Given the description of an element on the screen output the (x, y) to click on. 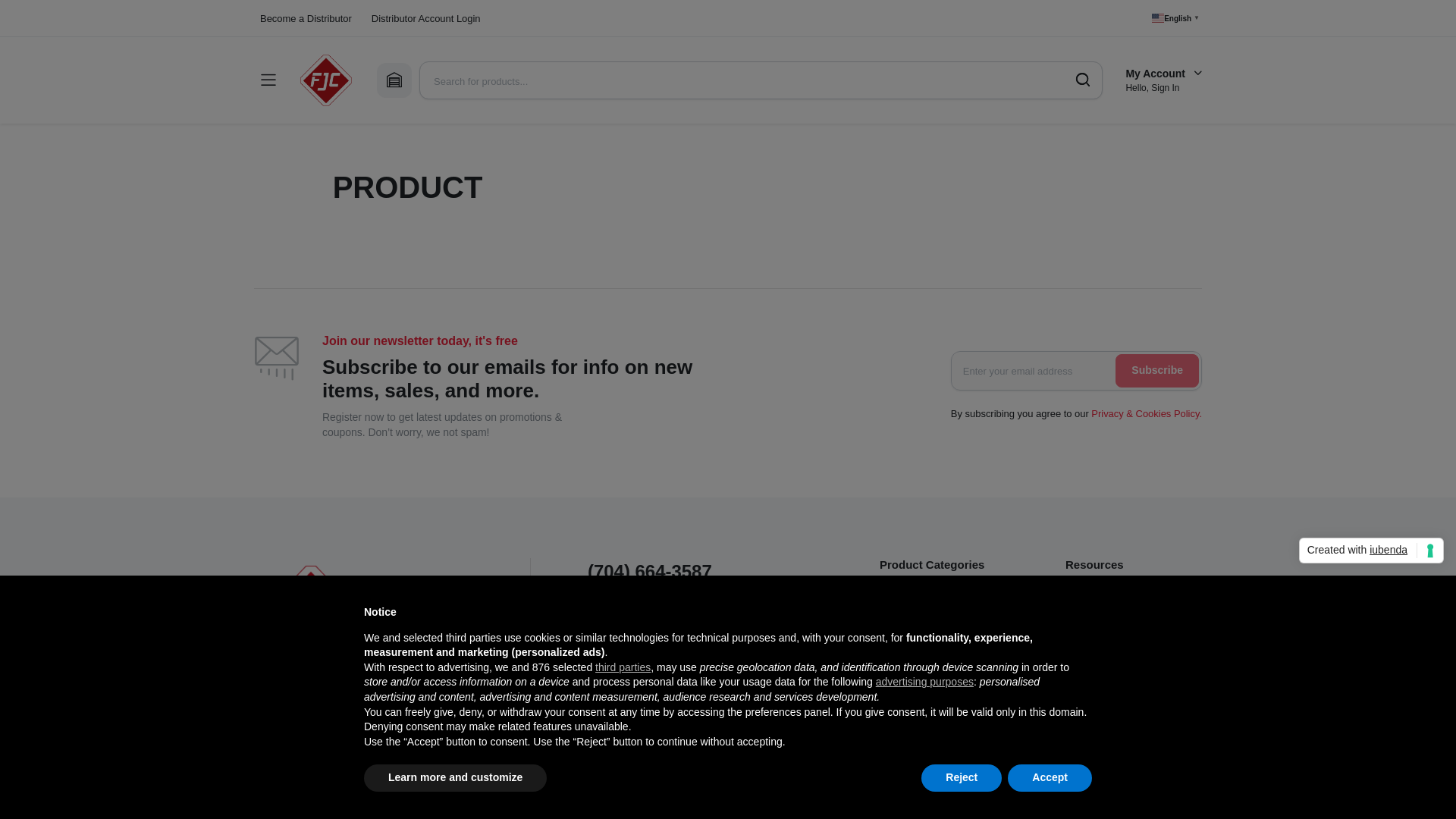
Power Division (914, 746)
Subscribe (611, 725)
Email (601, 703)
Vacuum Pumps (916, 682)
2024 Product Catalog (1116, 597)
Take Our Survey (632, 746)
Warranty (1086, 679)
Radiator Test Kits (920, 788)
Contact Us (614, 682)
Service Items (911, 725)
Subscribe (1156, 370)
Compressor OE Lubricant Exchange (1126, 648)
Refrigerant (905, 597)
Fluid Tools (904, 639)
Distributor Account Login (425, 18)
